Given the description of an element on the screen output the (x, y) to click on. 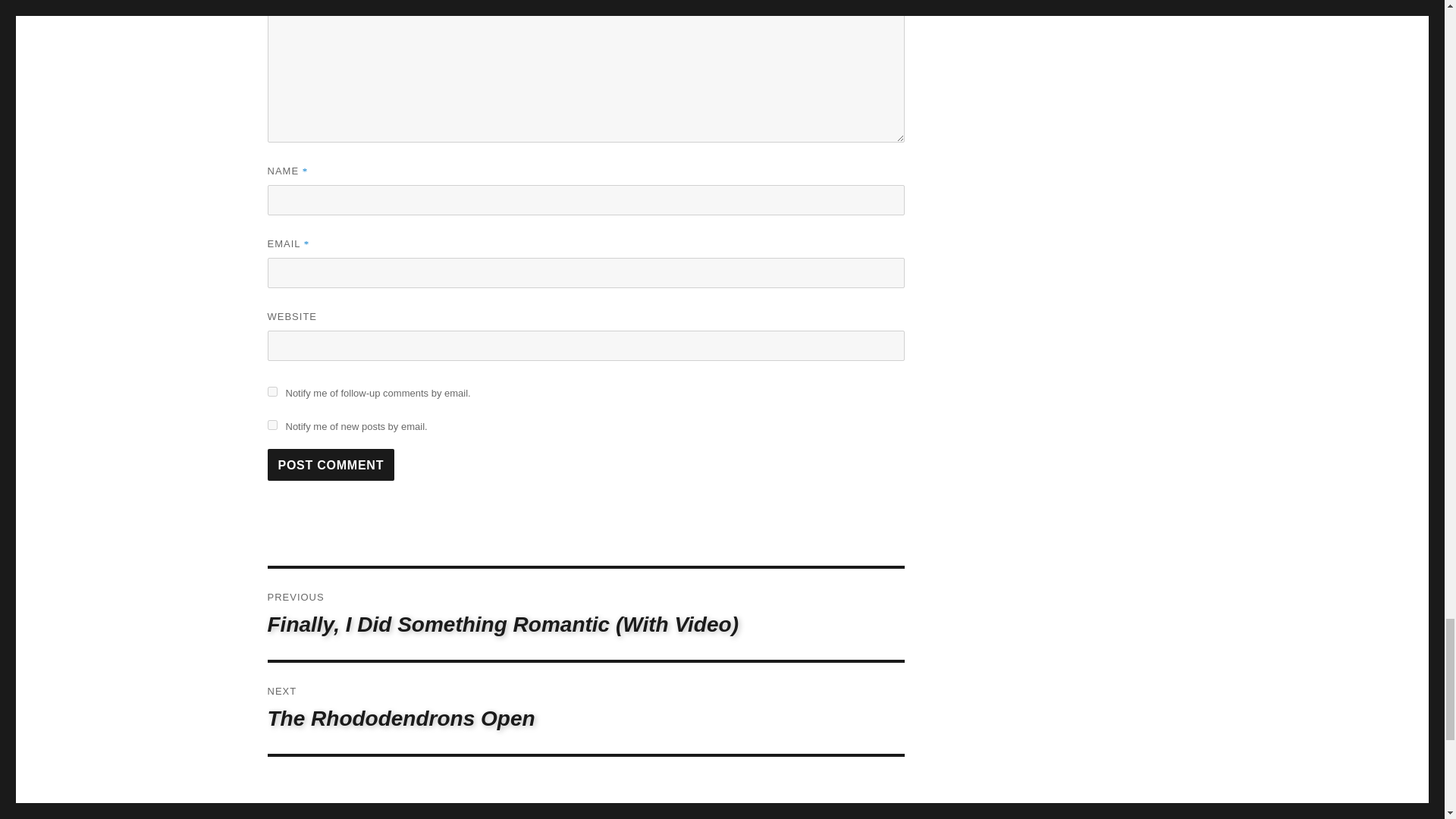
subscribe (271, 424)
subscribe (585, 707)
Post Comment (271, 391)
Post Comment (330, 464)
